Given the description of an element on the screen output the (x, y) to click on. 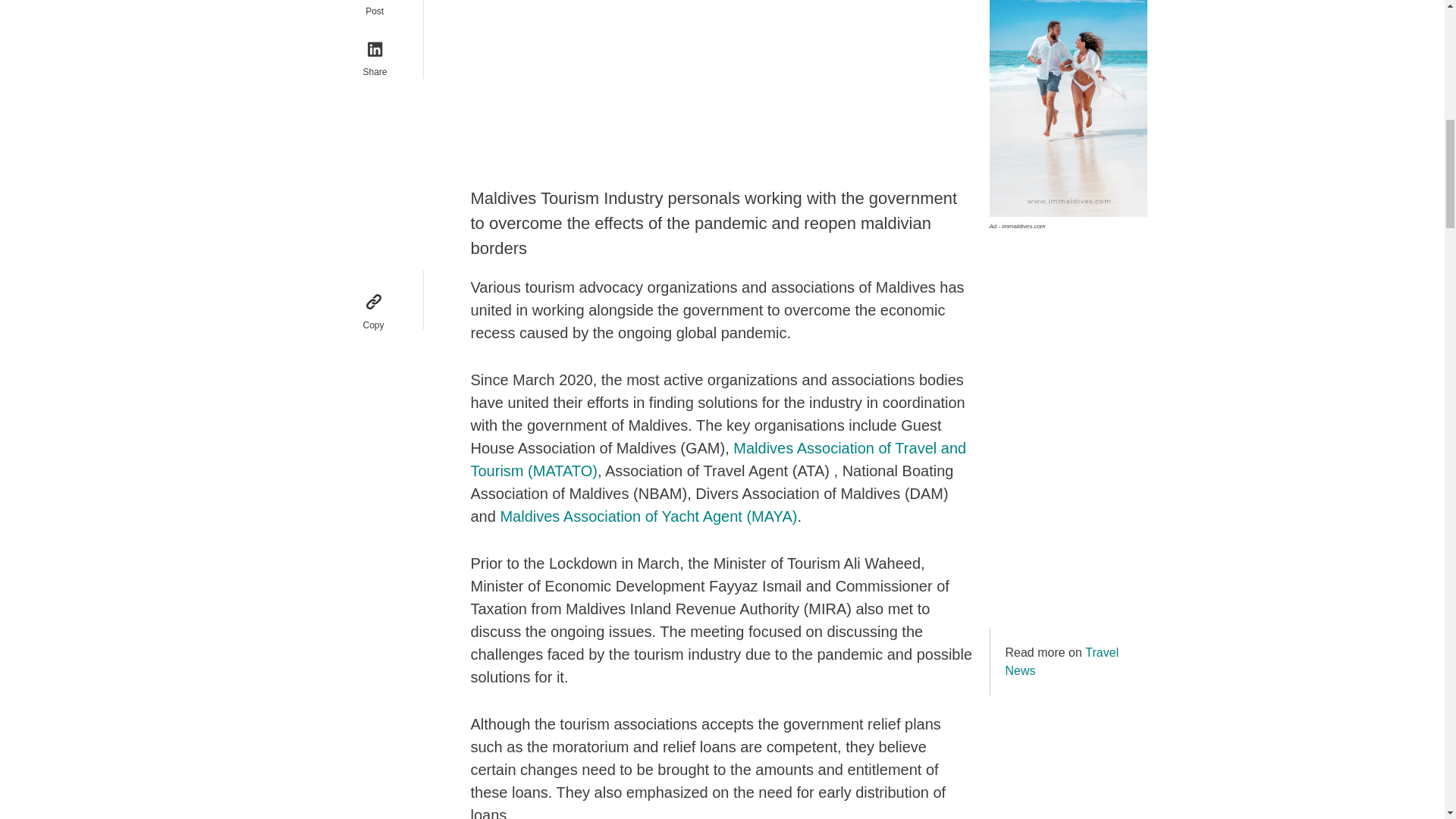
Travel News (1062, 661)
View all posts in Travel News (1062, 661)
